Given the description of an element on the screen output the (x, y) to click on. 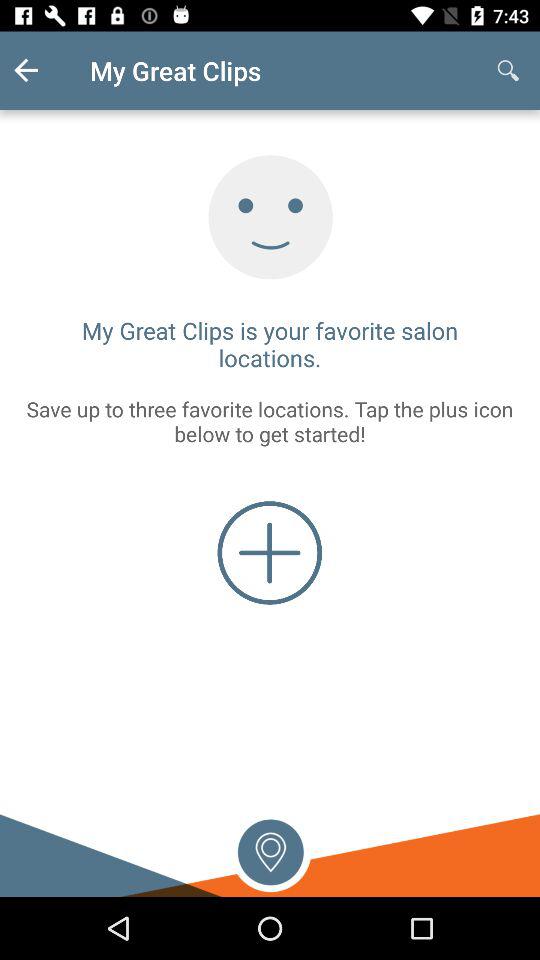
add a file/picture (269, 552)
